Given the description of an element on the screen output the (x, y) to click on. 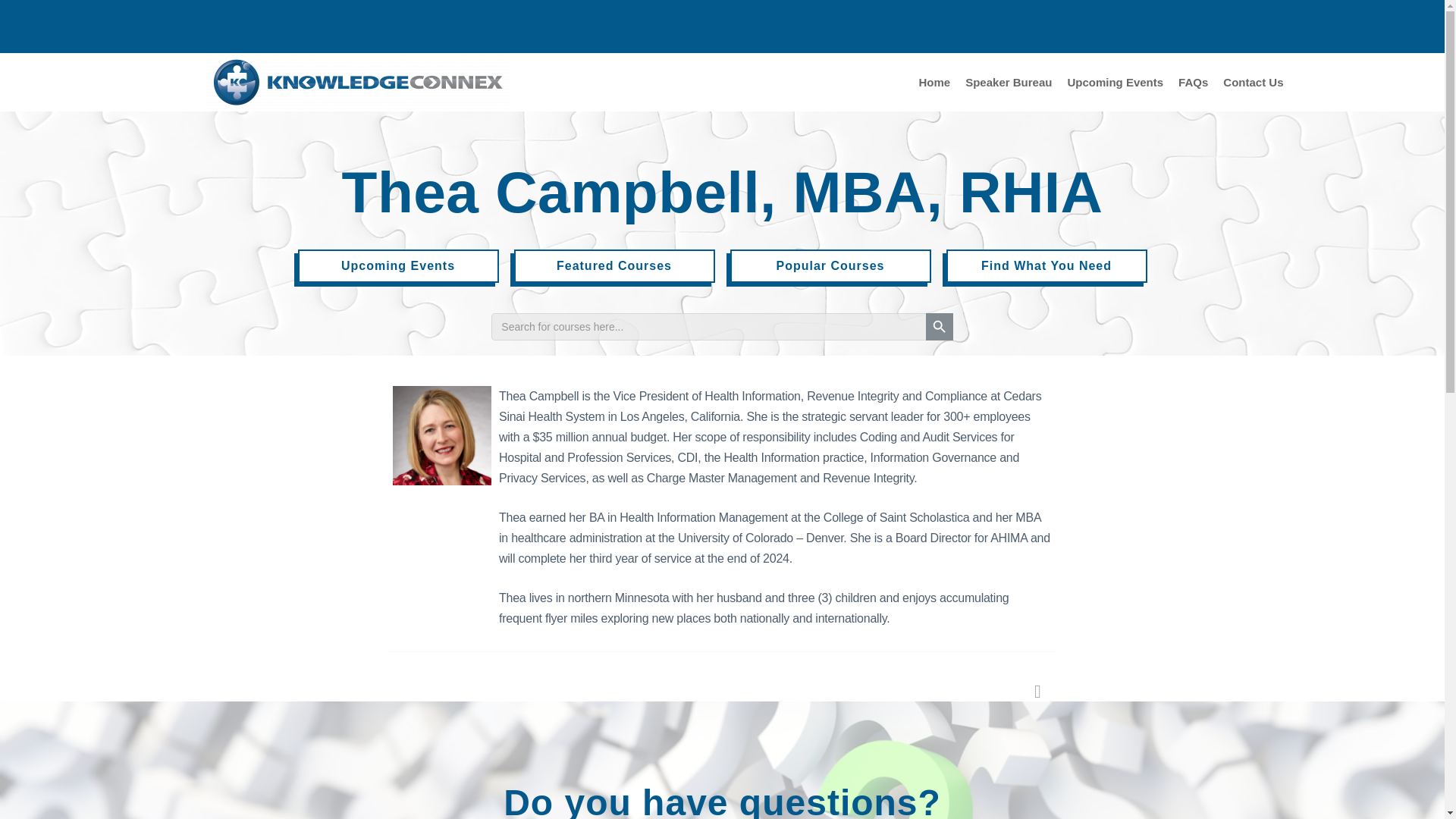
Home (934, 82)
Upcoming Events (1114, 82)
Contact Us (1252, 82)
SIGN IN (327, 26)
FAQs (1192, 82)
Search Button (939, 328)
Find What You Need (1046, 267)
KC-logo-2020 (357, 82)
Popular Courses (829, 268)
Featured Courses (613, 268)
Upcoming Events (397, 268)
Speaker Bureau (1008, 82)
